Given the description of an element on the screen output the (x, y) to click on. 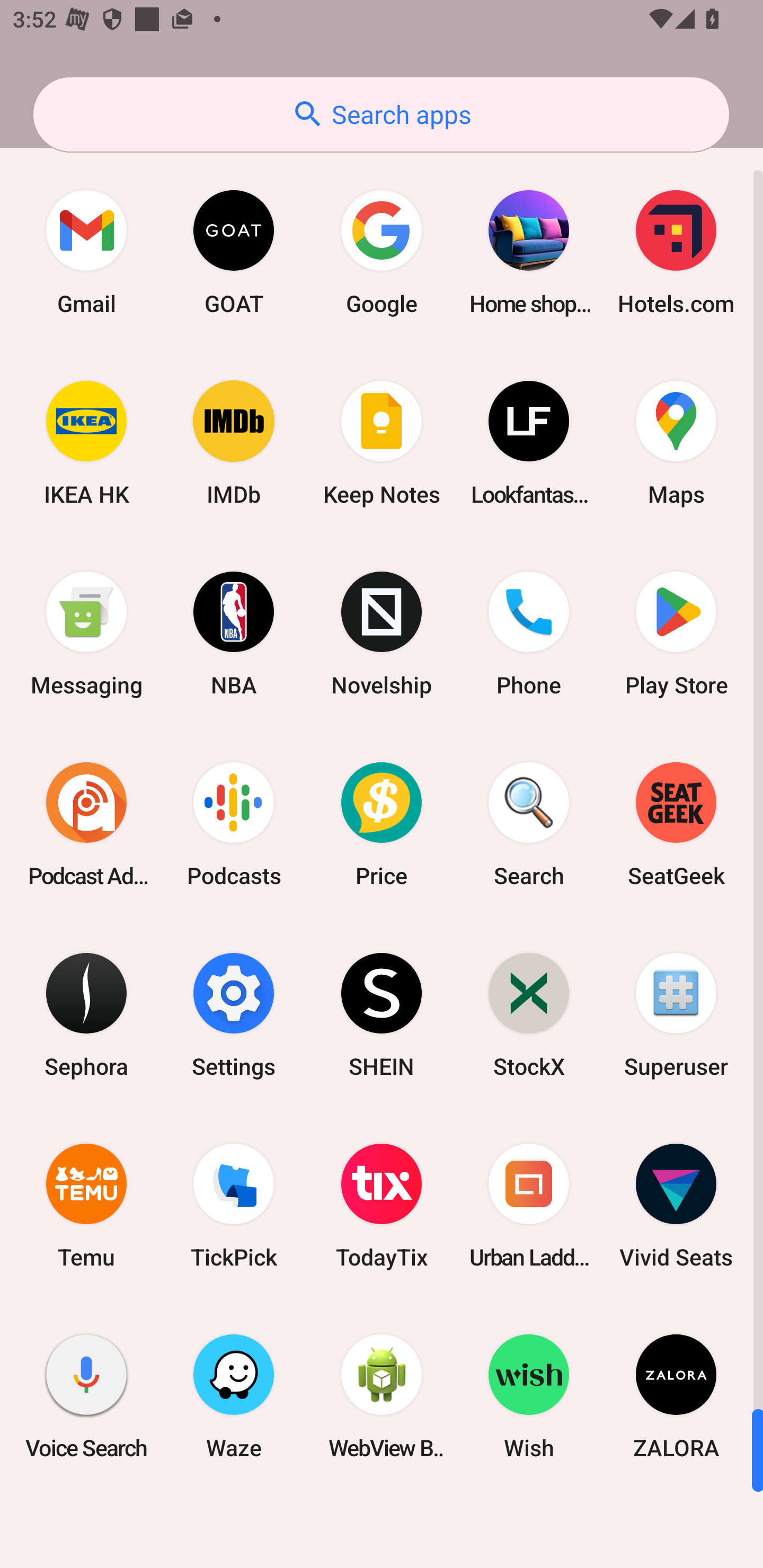
  Search apps (381, 114)
Gmail (86, 252)
GOAT (233, 252)
Google (381, 252)
Home shopping (528, 252)
Hotels.com (676, 252)
IKEA HK (86, 442)
IMDb (233, 442)
Keep Notes (381, 442)
Lookfantastic (528, 442)
Maps (676, 442)
Messaging (86, 633)
NBA (233, 633)
Novelship (381, 633)
Phone (528, 633)
Play Store (676, 633)
Podcast Addict (86, 823)
Podcasts (233, 823)
Price (381, 823)
Search (528, 823)
SeatGeek (676, 823)
Sephora (86, 1014)
Settings (233, 1014)
SHEIN (381, 1014)
StockX (528, 1014)
Superuser (676, 1014)
Temu (86, 1205)
TickPick (233, 1205)
TodayTix (381, 1205)
Urban Ladder (528, 1205)
Vivid Seats (676, 1205)
Voice Search (86, 1396)
Waze (233, 1396)
WebView Browser Tester (381, 1396)
Wish (528, 1396)
ZALORA (676, 1396)
